Given the description of an element on the screen output the (x, y) to click on. 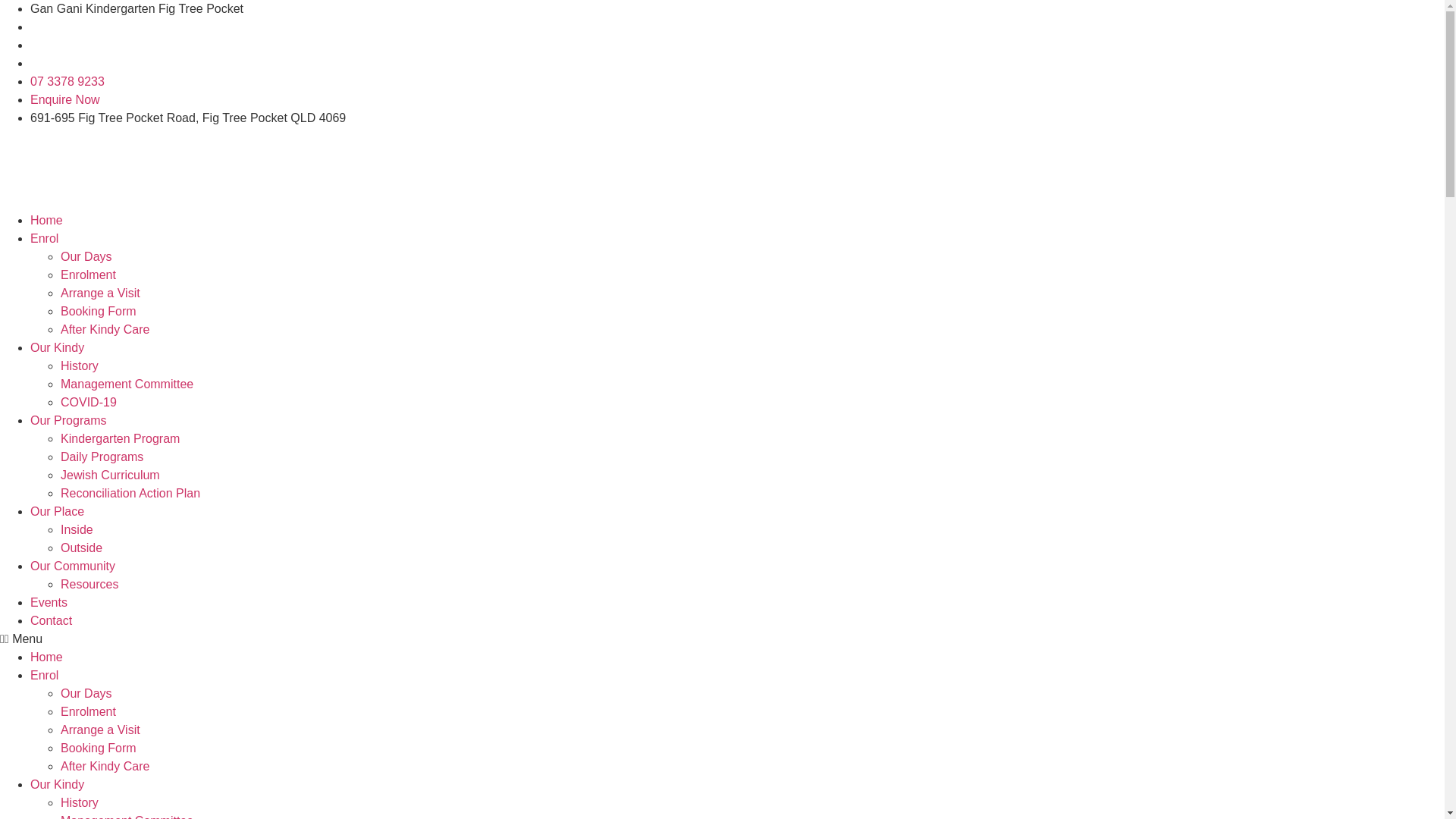
Home Element type: text (46, 656)
Enquire Now Element type: text (65, 99)
Enrolment Element type: text (88, 274)
Our Community Element type: text (72, 565)
After Kindy Care Element type: text (104, 765)
Our Days Element type: text (86, 256)
Enrol Element type: text (44, 674)
Jewish Curriculum Element type: text (110, 474)
Contact Element type: text (51, 620)
COVID-19 Element type: text (88, 401)
Arrange a Visit Element type: text (100, 292)
Home Element type: text (46, 219)
Kindergarten Program Element type: text (119, 438)
Booking Form Element type: text (98, 747)
Our Programs Element type: text (68, 420)
07 3378 9233 Element type: text (67, 81)
Events Element type: text (48, 602)
Our Place Element type: text (57, 511)
Our Days Element type: text (86, 693)
After Kindy Care Element type: text (104, 329)
Daily Programs Element type: text (101, 456)
History Element type: text (79, 365)
Arrange a Visit Element type: text (100, 729)
Outside Element type: text (81, 547)
Enrolment Element type: text (88, 711)
Our Kindy Element type: text (57, 347)
Resources Element type: text (89, 583)
Management Committee Element type: text (126, 383)
Our Kindy Element type: text (57, 784)
Reconciliation Action Plan Element type: text (130, 492)
Inside Element type: text (76, 529)
Enrol Element type: text (44, 238)
Booking Form Element type: text (98, 310)
History Element type: text (79, 802)
